Given the description of an element on the screen output the (x, y) to click on. 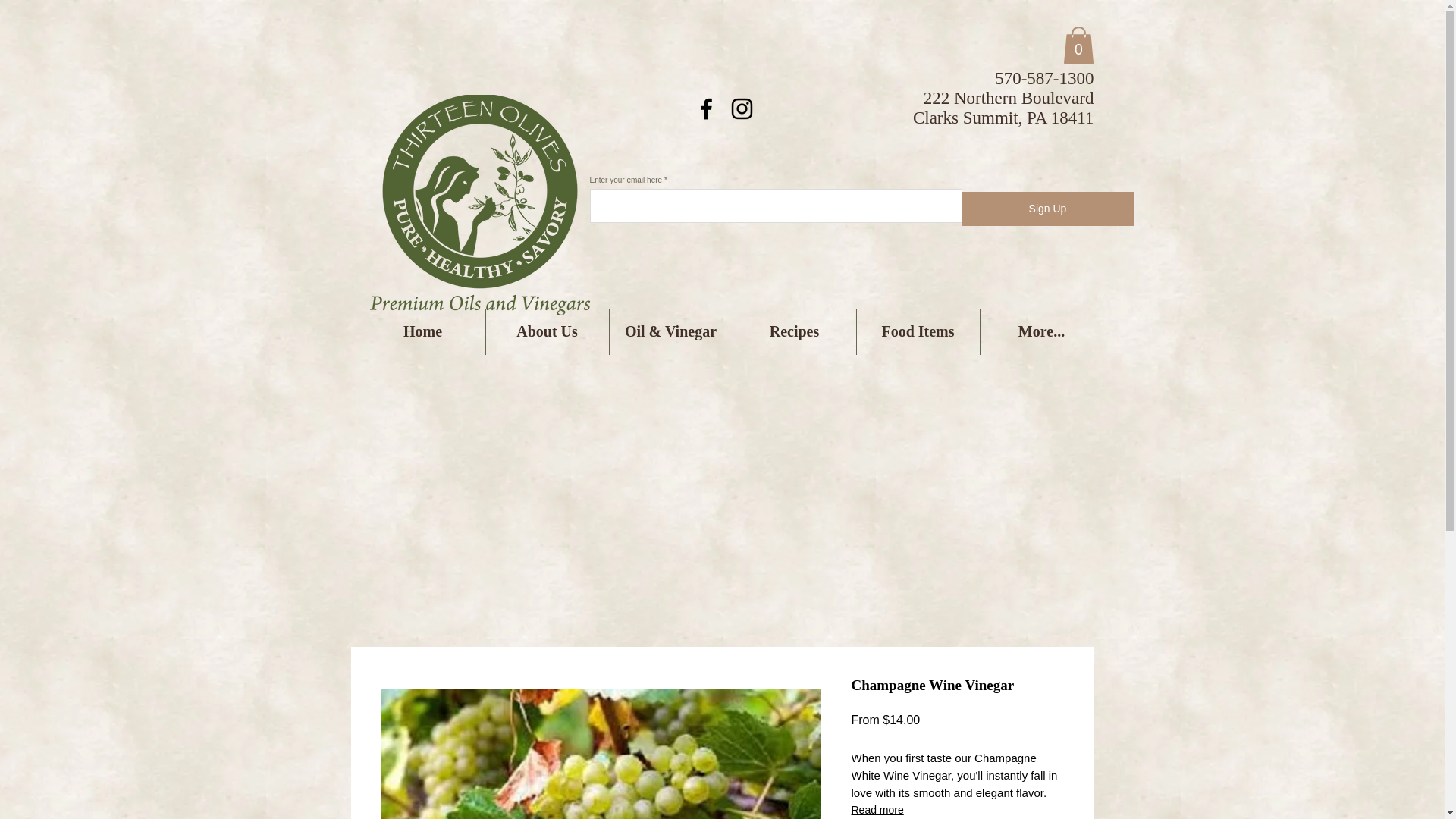
Recipes (794, 331)
About Us (546, 331)
Read more (956, 809)
Sign Up (1047, 208)
Home (422, 331)
Food Items (918, 331)
